Given the description of an element on the screen output the (x, y) to click on. 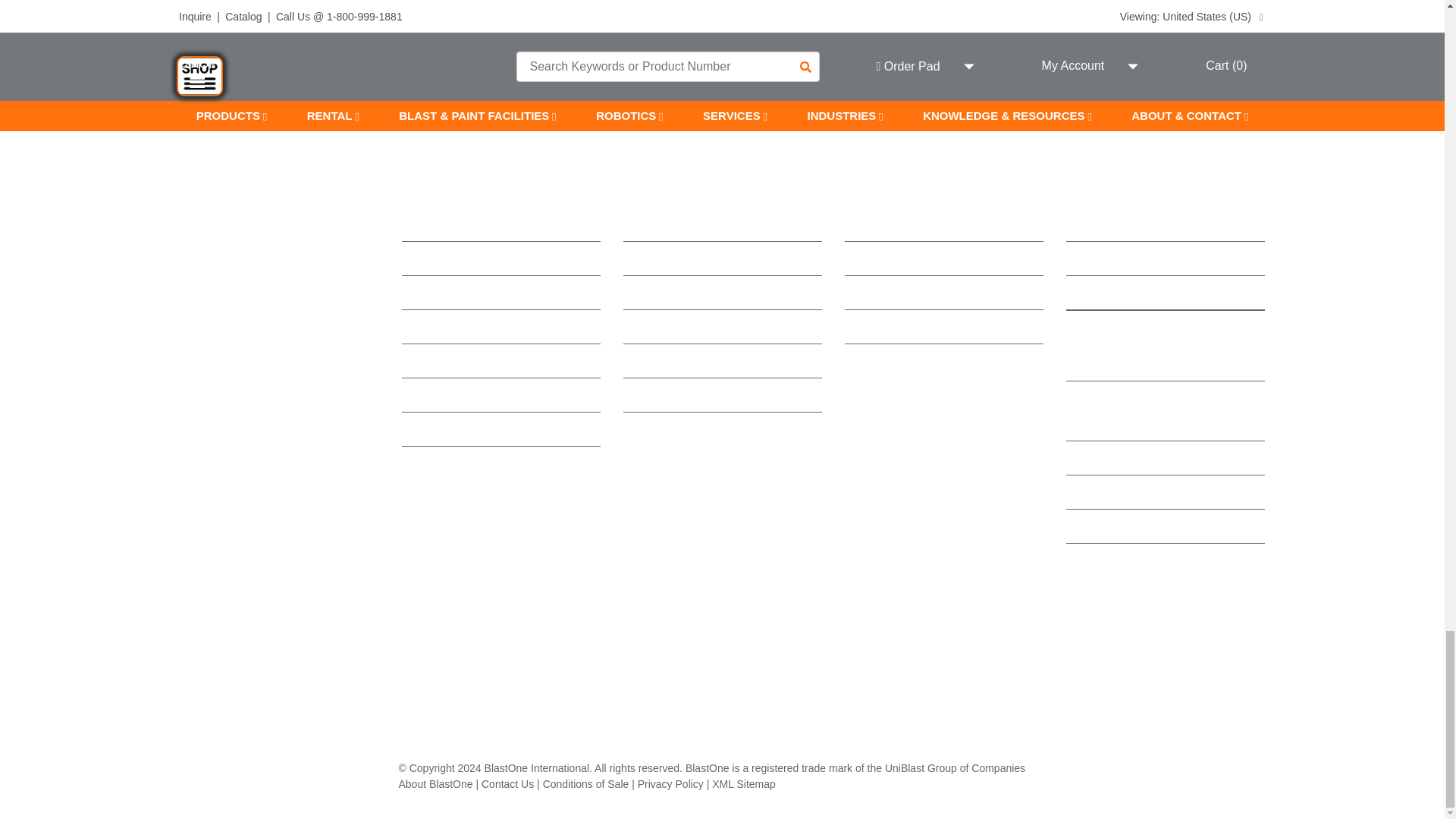
Live chat (275, 12)
Online form (1167, 12)
Email (572, 12)
Phone (870, 12)
